Given the description of an element on the screen output the (x, y) to click on. 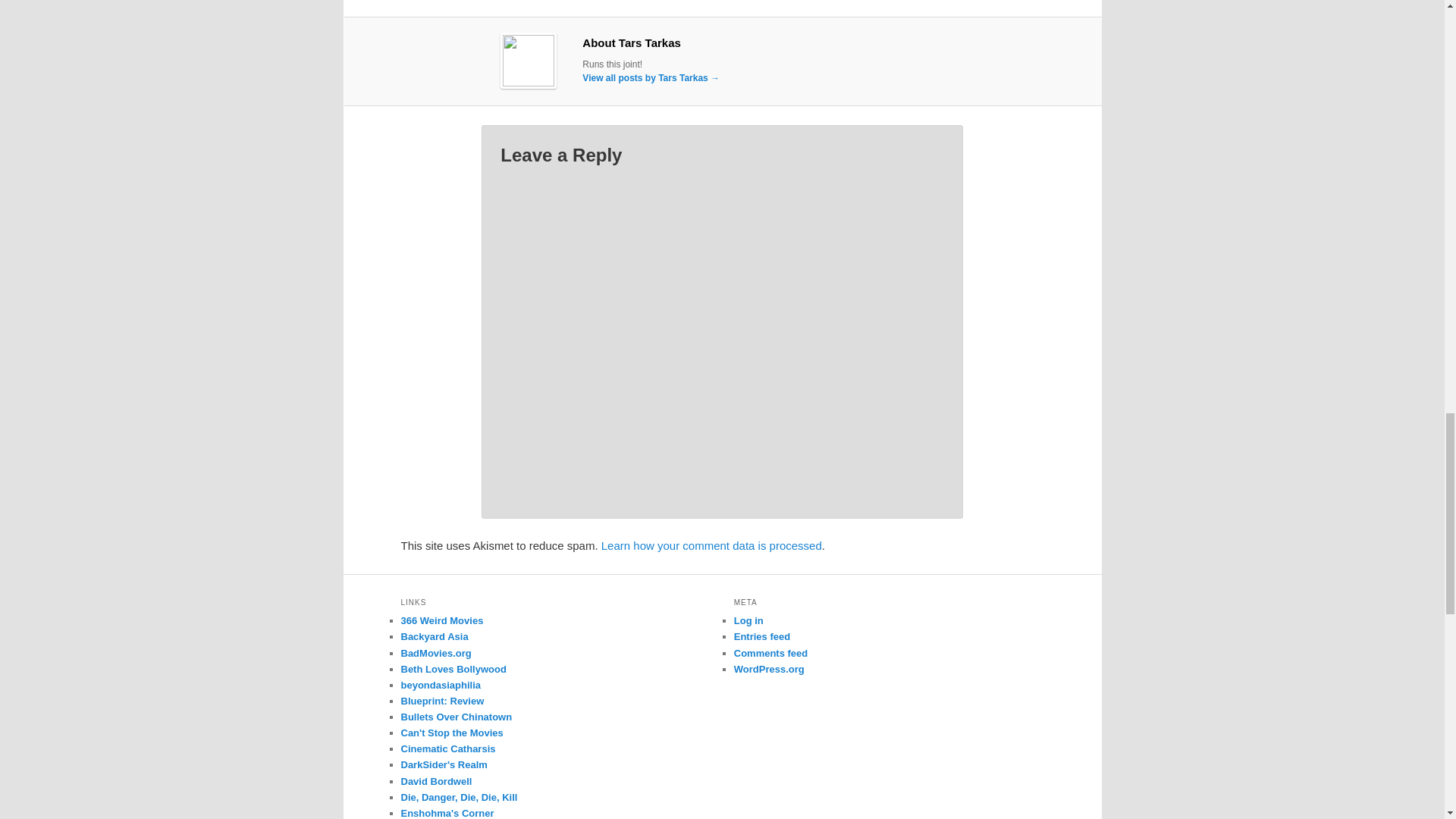
366 Weird Movies (441, 620)
Beth Loves Bollywood (452, 668)
BadMovies.org (435, 653)
Learn how your comment data is processed (711, 545)
beyondasiaphilia (440, 685)
Cinematic Catharsis (447, 748)
David Bordwell (435, 781)
Can't Stop the Movies (451, 732)
DarkSider's Realm (443, 764)
Backyard Asia (433, 636)
